Given the description of an element on the screen output the (x, y) to click on. 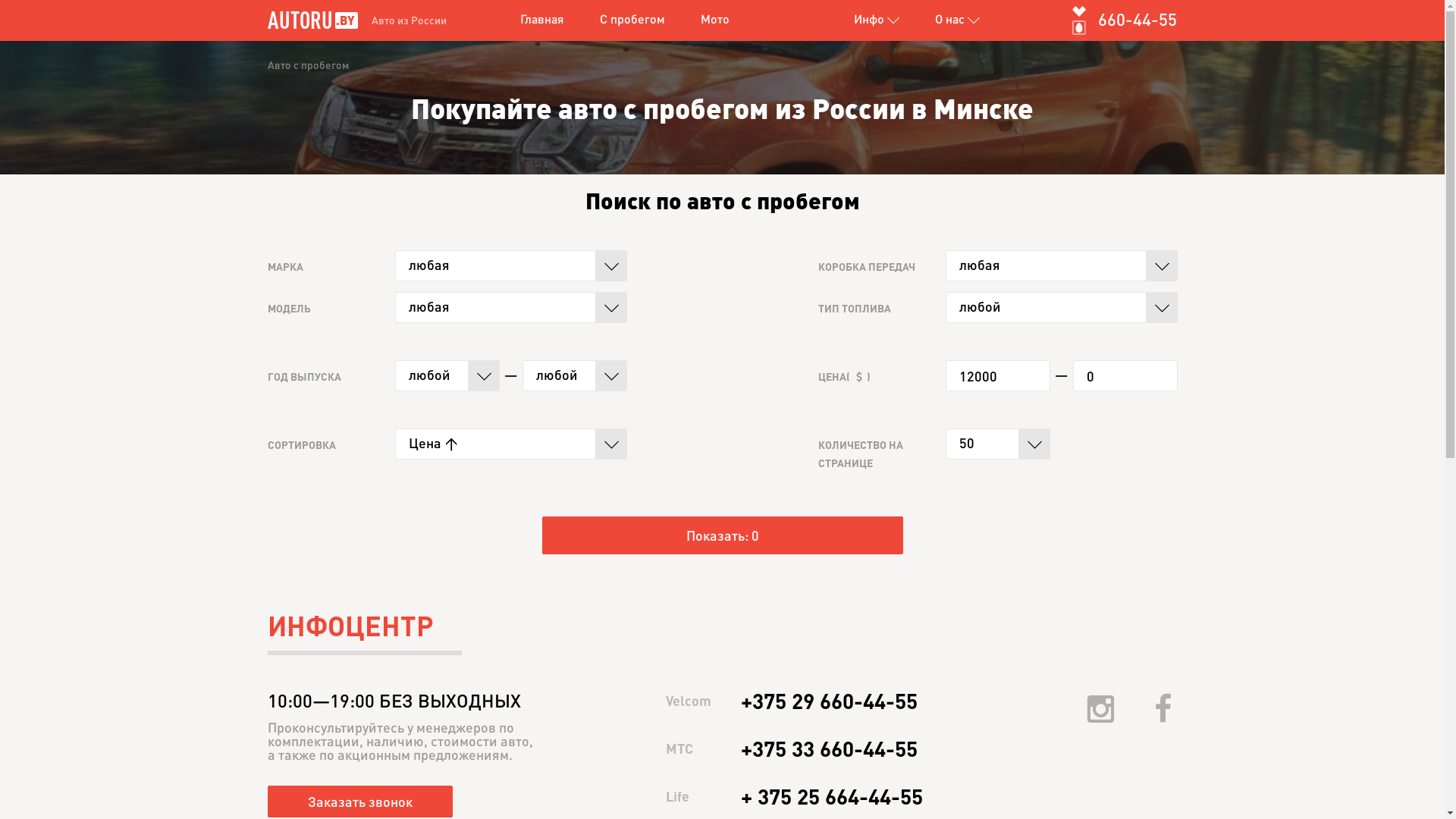
660-44-55 Element type: text (1137, 18)
+375 33 660-44-55 Element type: text (828, 748)
+375 29 660-44-55 Element type: text (828, 700)
+ 375 25 664-44-55 Element type: text (831, 796)
